Given the description of an element on the screen output the (x, y) to click on. 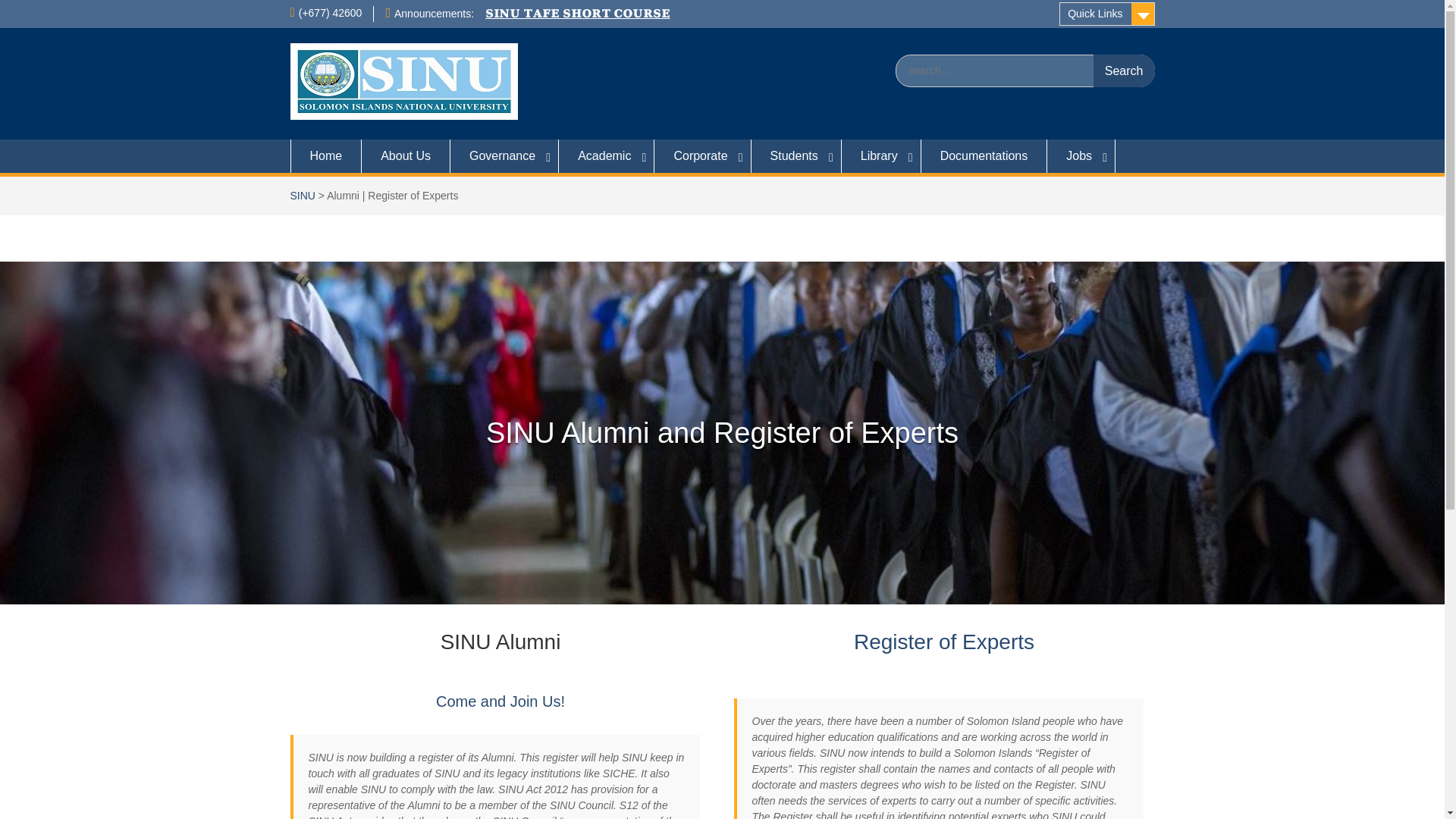
About Us (405, 155)
Search (1123, 70)
Quick Links (1106, 13)
Search (1123, 70)
Search (1123, 70)
Academic (606, 155)
Governance (504, 155)
Home (325, 155)
Search for: (1024, 70)
